Given the description of an element on the screen output the (x, y) to click on. 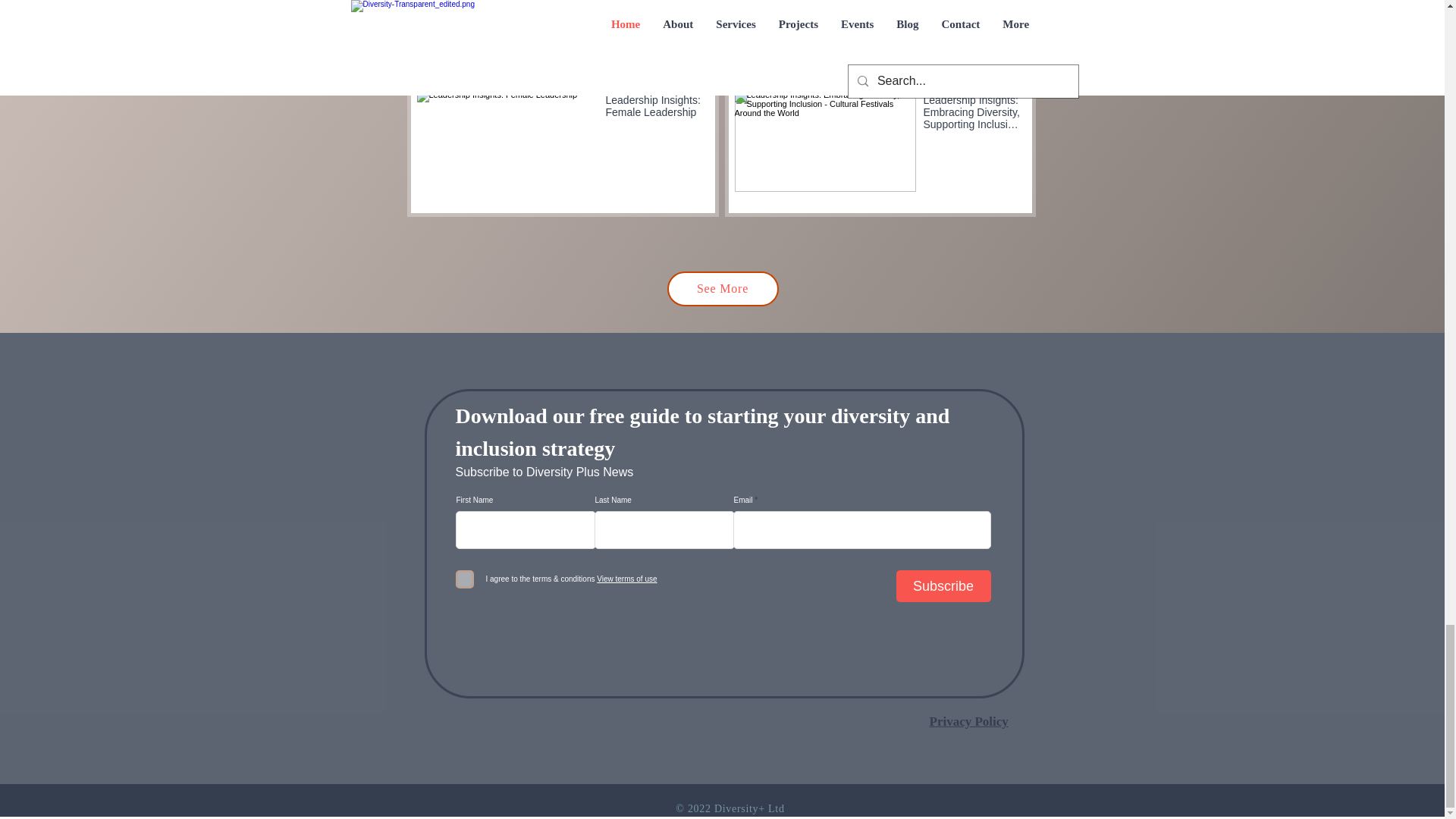
Leadership Insights: Female Leadership (654, 109)
View terms of use (625, 578)
Privacy Policy (969, 721)
See More (722, 288)
Subscribe (943, 585)
